Given the description of an element on the screen output the (x, y) to click on. 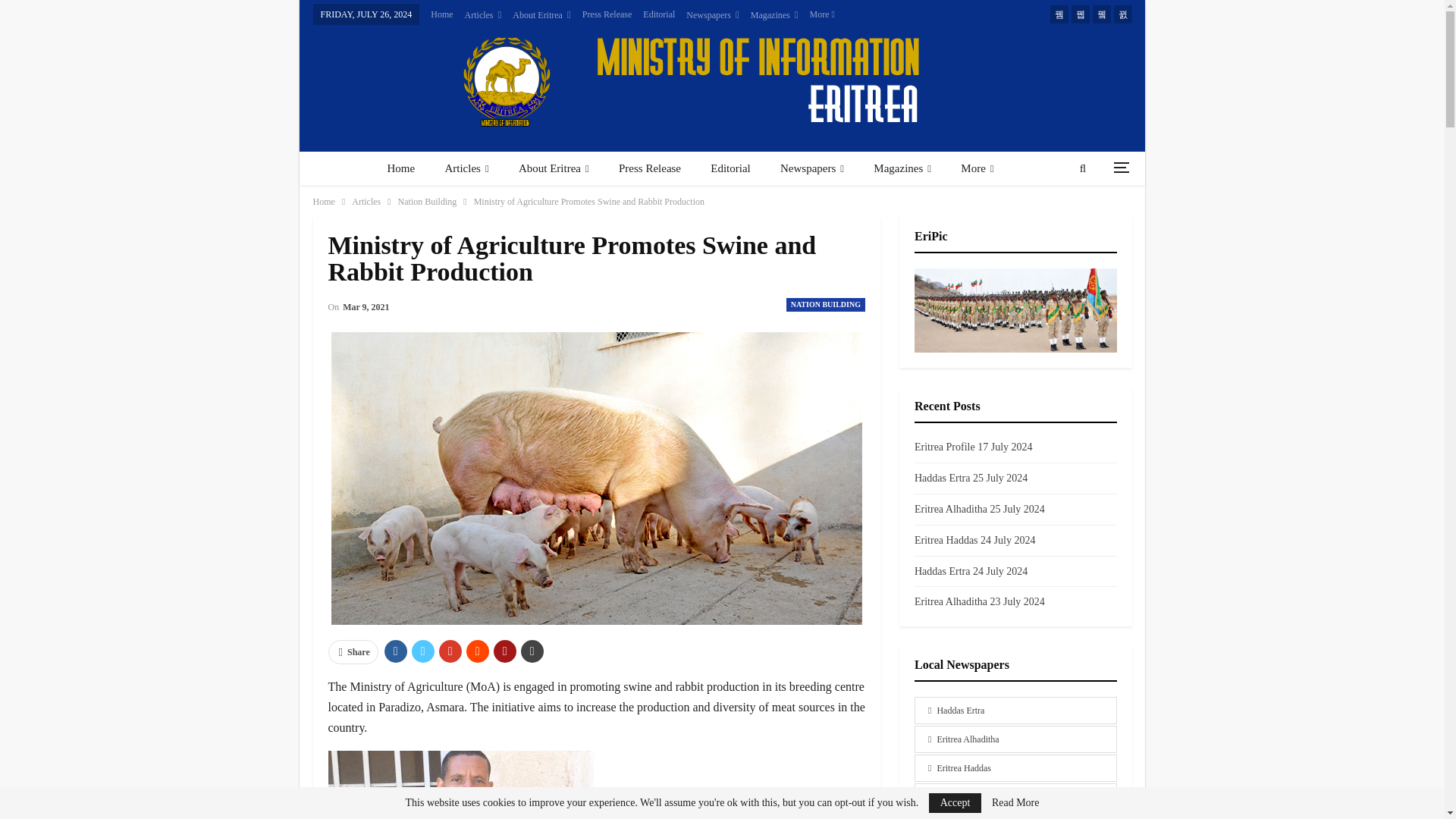
Articles (483, 14)
About Eritrea (541, 14)
Home (441, 14)
